Given the description of an element on the screen output the (x, y) to click on. 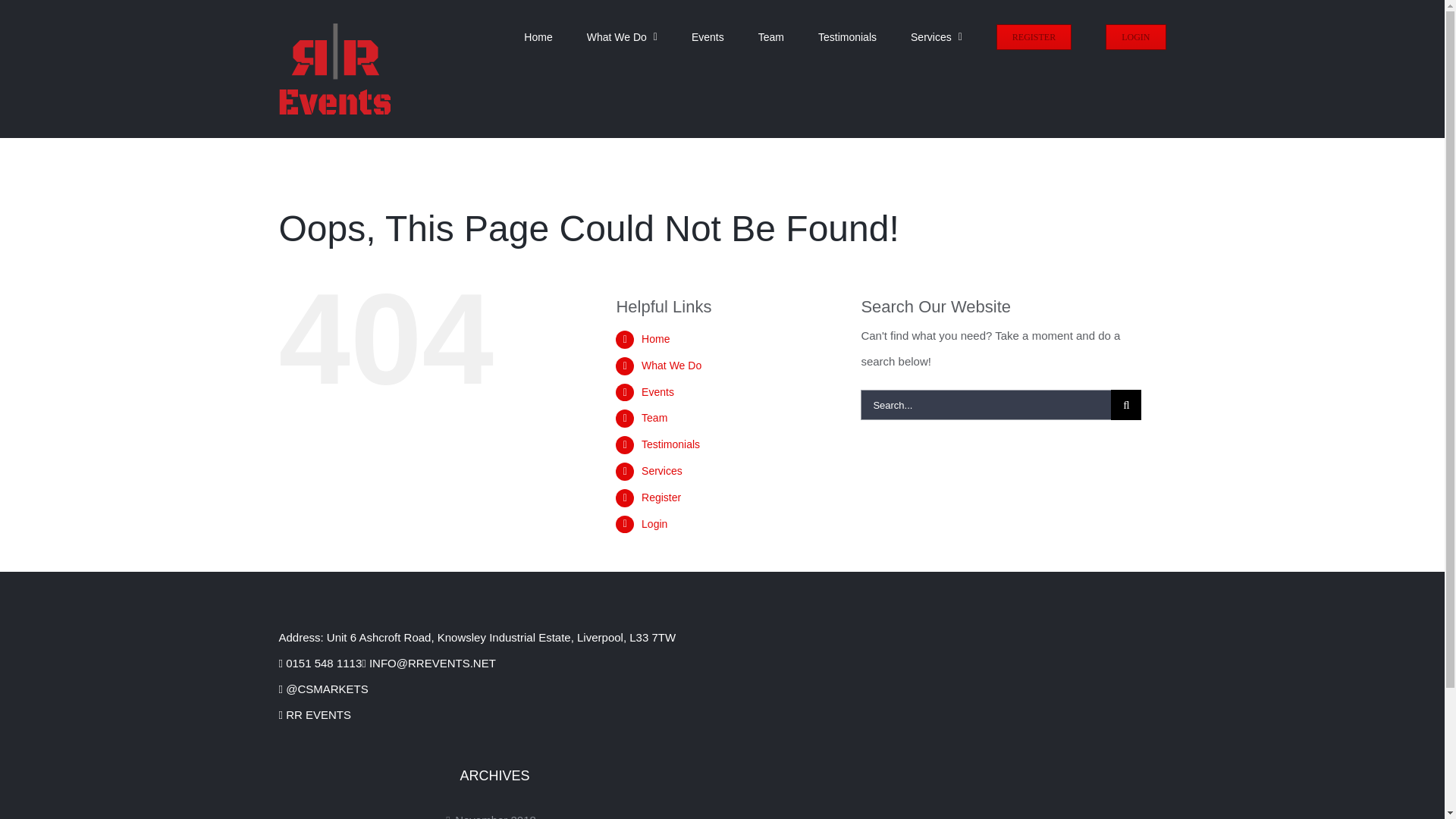
Services (662, 470)
Testimonials (671, 444)
November 2018 (495, 813)
Login (654, 523)
What We Do (671, 365)
REGISTER (1033, 36)
What We Do (622, 36)
Register (661, 497)
Team (654, 417)
RR EVENTS (315, 714)
